Given the description of an element on the screen output the (x, y) to click on. 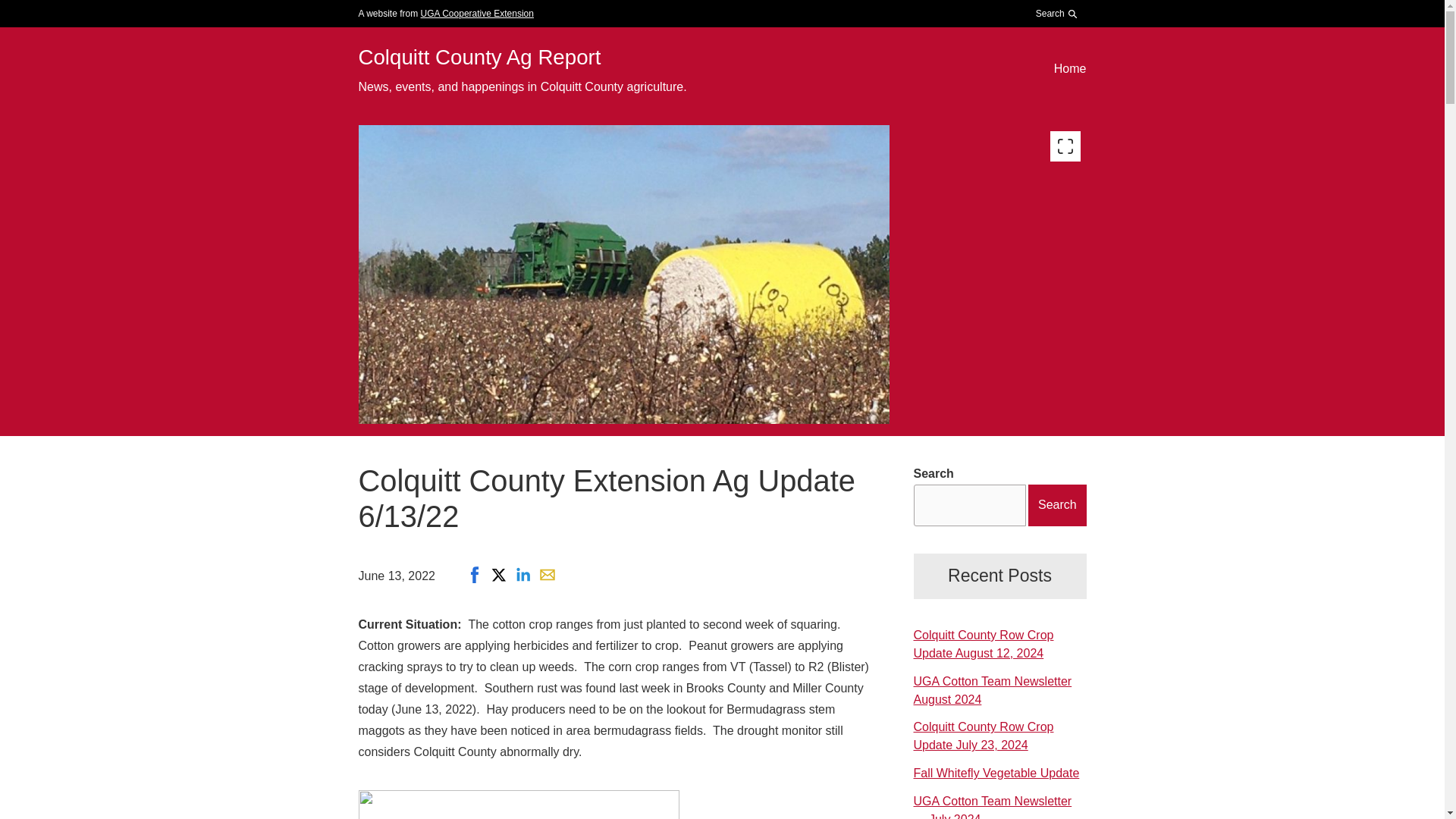
UGA Cooperative Extension (477, 13)
Share on Facebook, opens in new window (474, 574)
Share on X, opens in new window (498, 574)
Search (1053, 51)
Colquitt County Row Crop Update July 23, 2024 (982, 735)
Colquitt County Ag Report (478, 56)
Search (1056, 13)
Colquitt County Row Crop Update August 12, 2024 (982, 644)
Fall Whitefly Vegetable Update (995, 772)
UGA Cotton Team Newsletter August 2024 (991, 689)
